Given the description of an element on the screen output the (x, y) to click on. 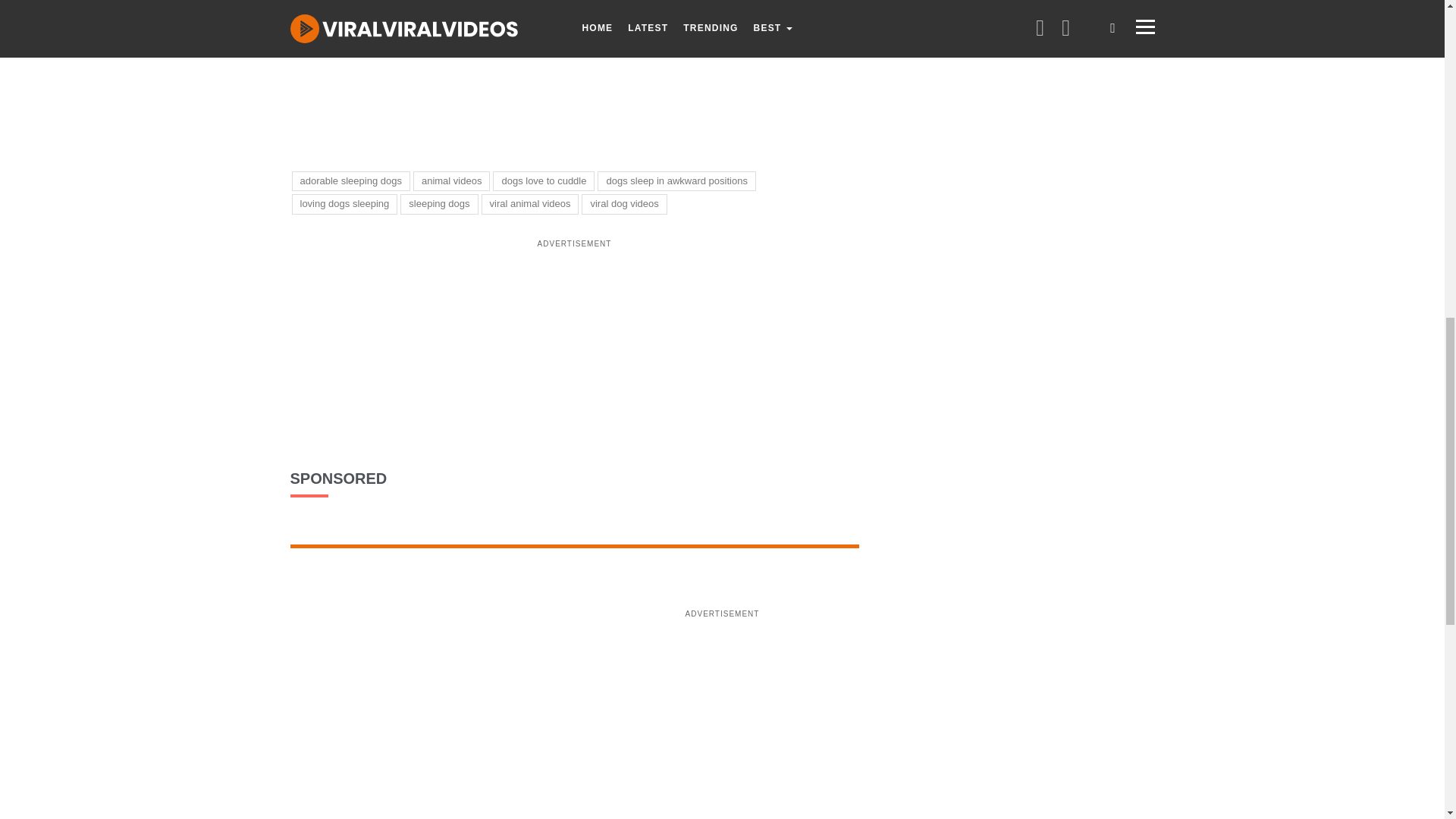
Advertisement (574, 363)
